Given the description of an element on the screen output the (x, y) to click on. 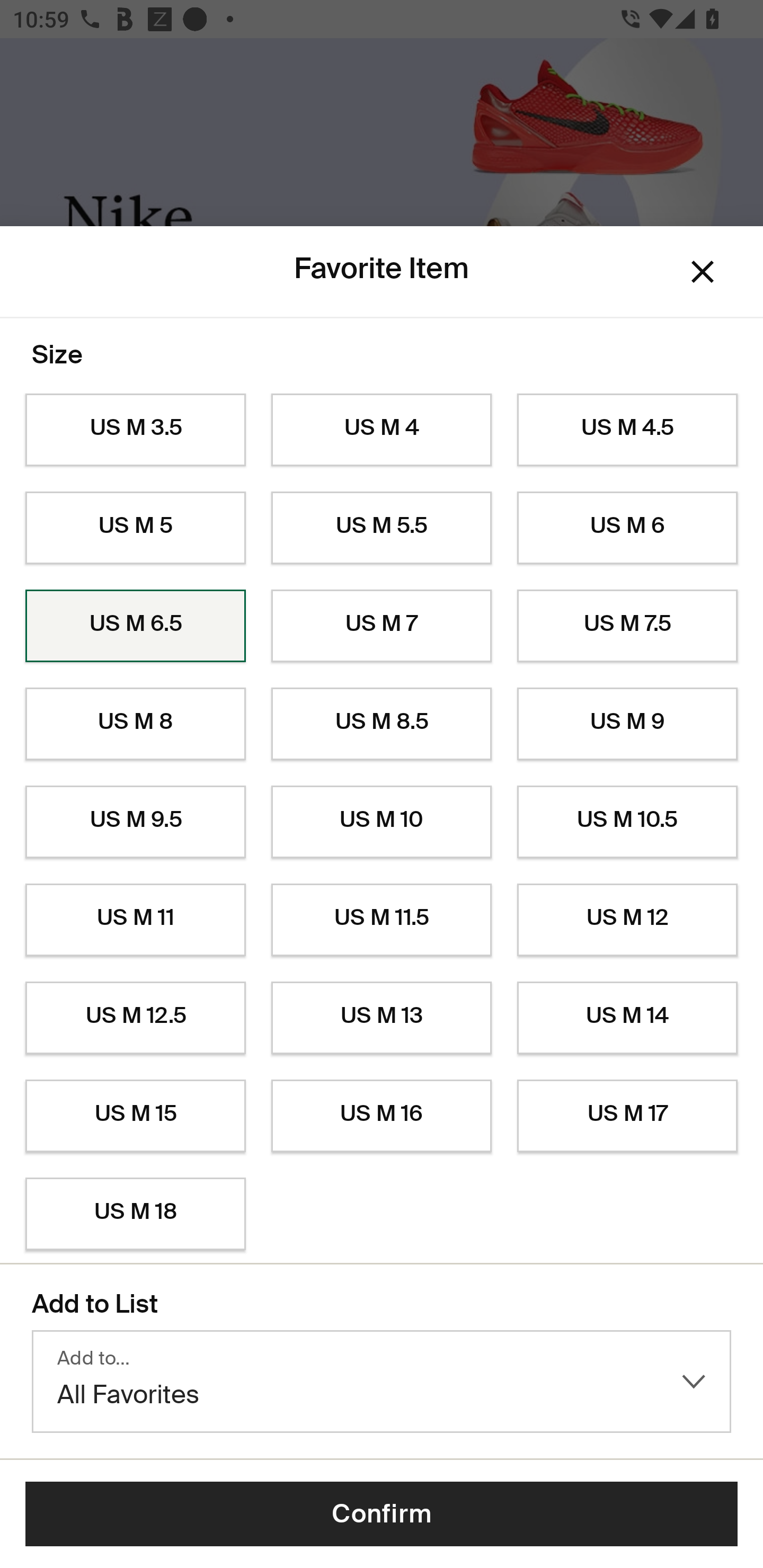
Dismiss (702, 271)
US M 3.5 (135, 430)
US M 4 (381, 430)
US M 4.5 (627, 430)
US M 5 (135, 527)
US M 5.5 (381, 527)
US M 6 (627, 527)
US M 6.5 (135, 626)
US M 7 (381, 626)
US M 7.5 (627, 626)
US M 8 (135, 724)
US M 8.5 (381, 724)
US M 9 (627, 724)
US M 9.5 (135, 822)
US M 10 (381, 822)
US M 10.5 (627, 822)
US M 11 (135, 919)
US M 11.5 (381, 919)
US M 12 (627, 919)
US M 12.5 (135, 1018)
US M 13 (381, 1018)
US M 14 (627, 1018)
US M 15 (135, 1116)
US M 16 (381, 1116)
US M 17 (627, 1116)
US M 18 (135, 1214)
Add to… All Favorites (381, 1381)
Confirm (381, 1513)
